Given the description of an element on the screen output the (x, y) to click on. 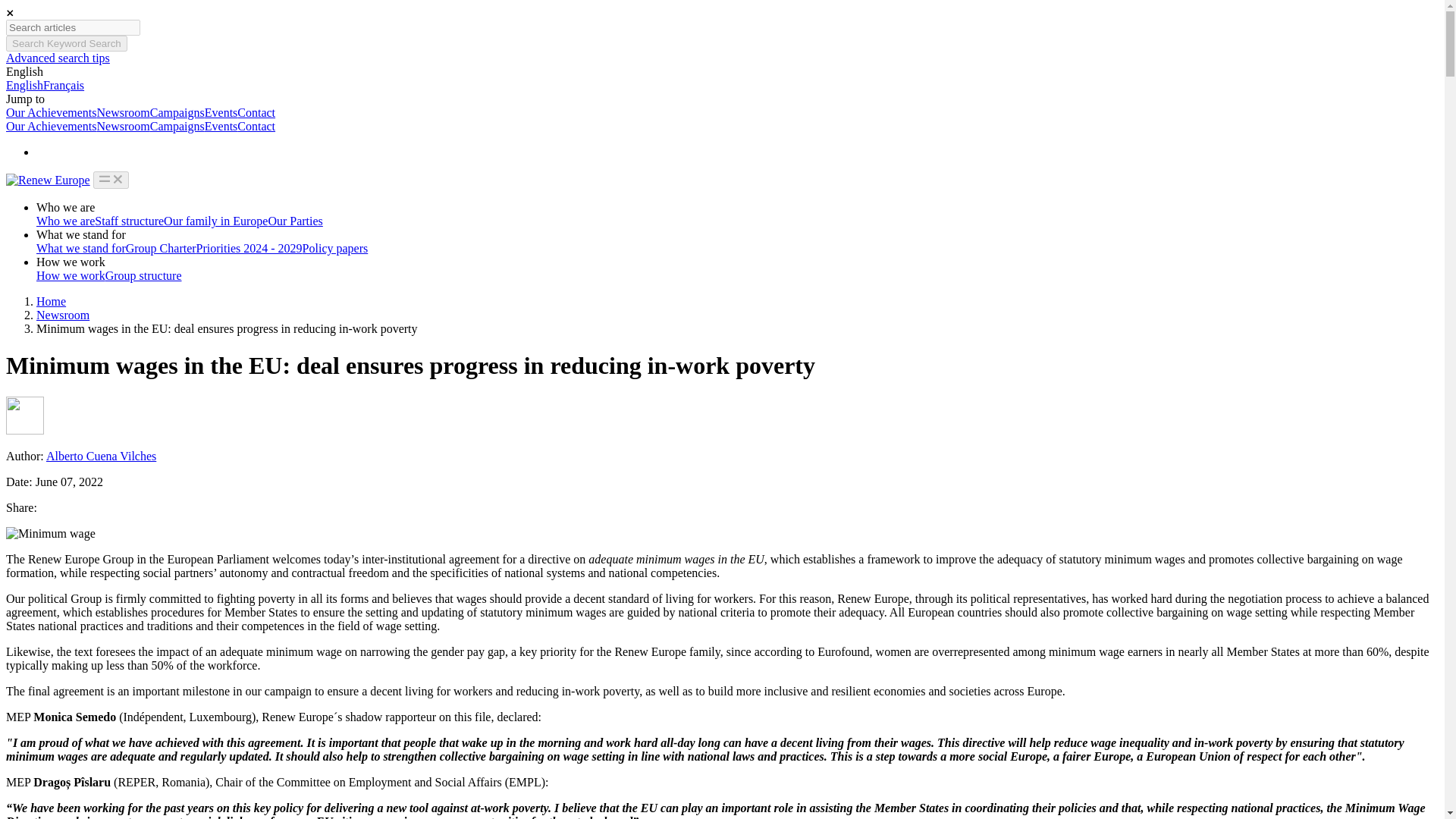
What we stand for (80, 234)
Priorities 2024 - 2029 (249, 247)
Group structure (143, 275)
Newsroom (62, 314)
Contact (256, 112)
English (24, 84)
Campaigns (177, 125)
Contact (256, 125)
Our Achievements (51, 125)
English (24, 71)
